Given the description of an element on the screen output the (x, y) to click on. 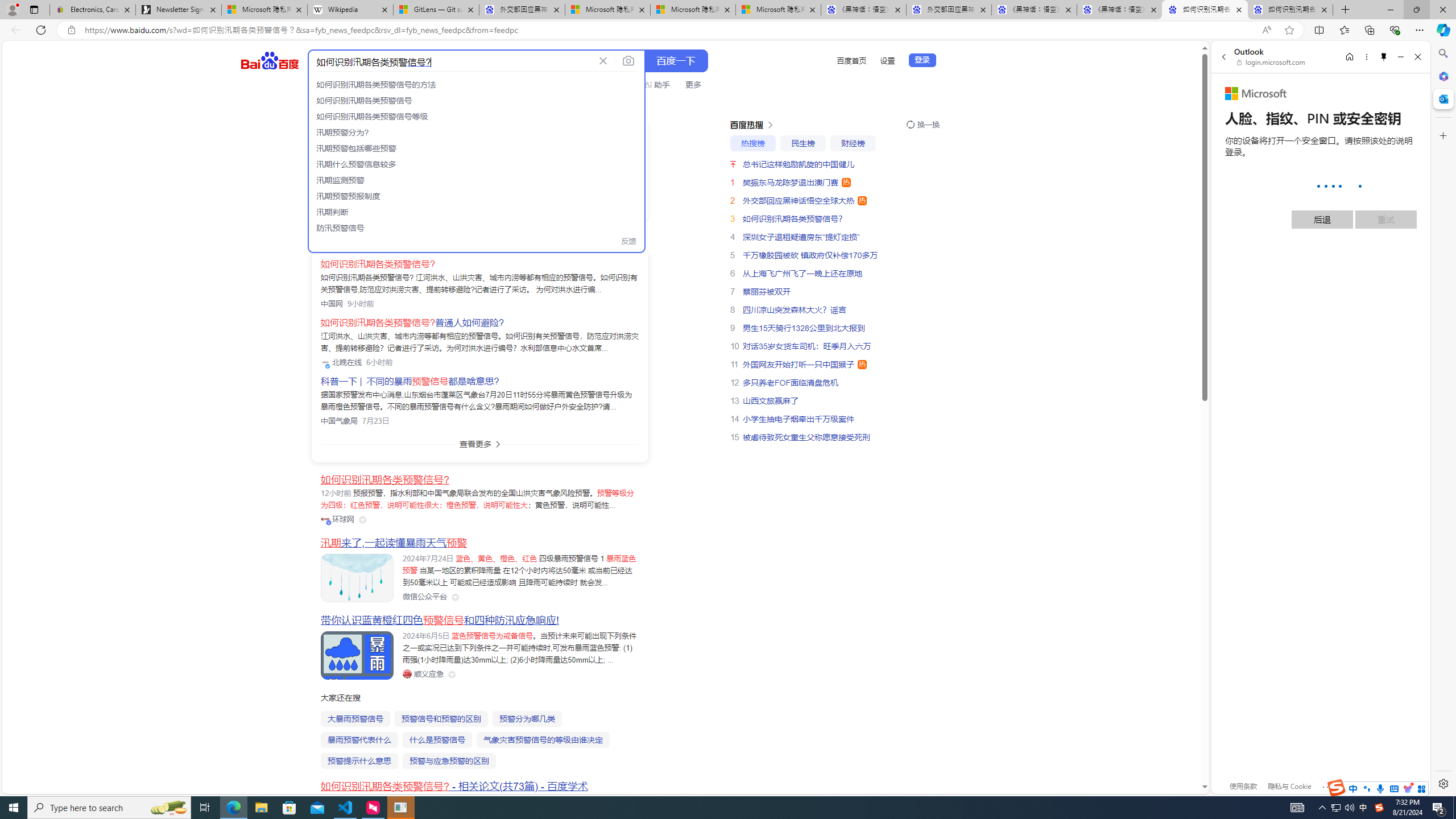
Class: sc-link _link_kwqvb_2 -v-color-primary block (398, 168)
